Given the description of an element on the screen output the (x, y) to click on. 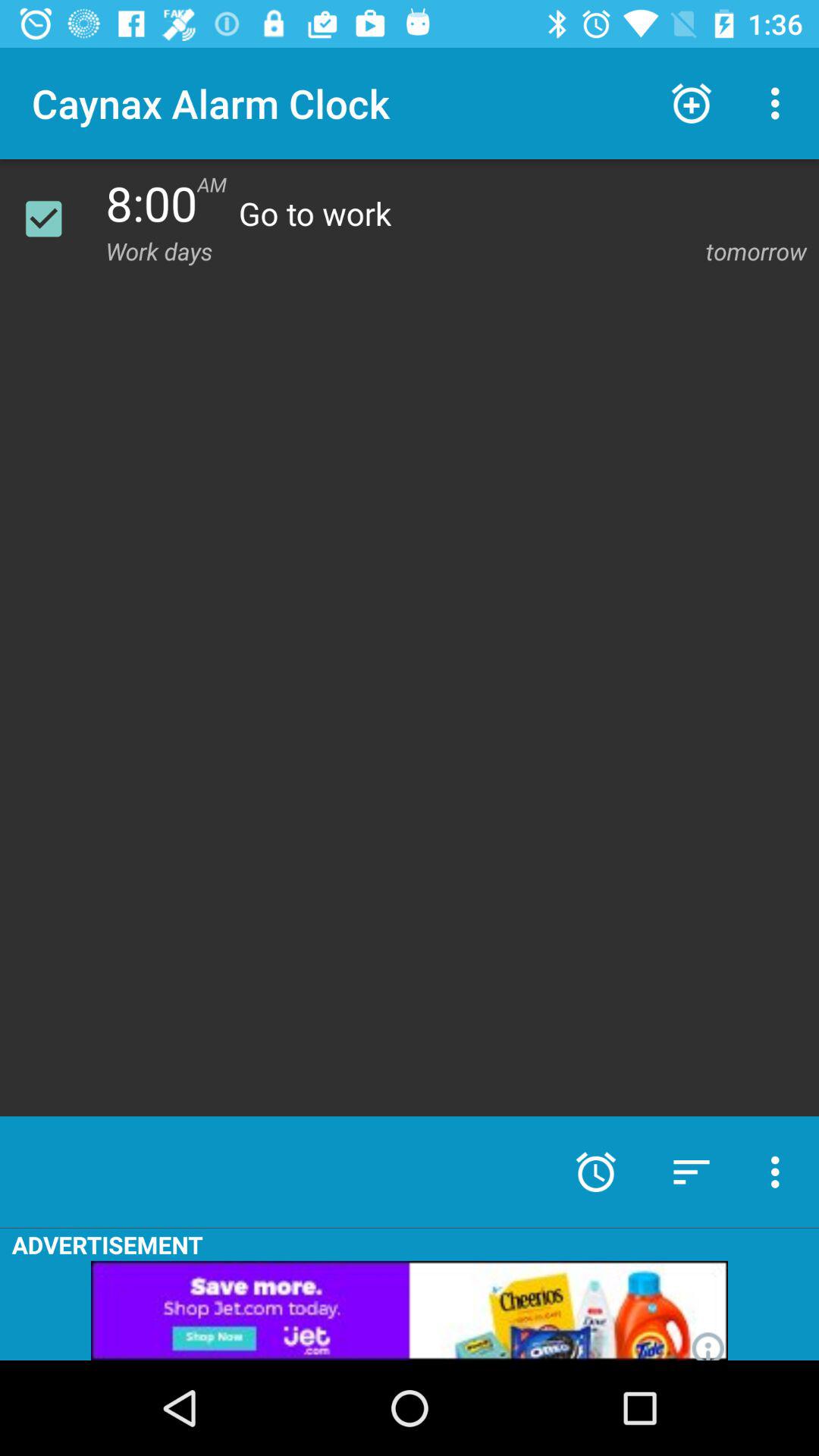
toggle alarm on or off (53, 218)
